Given the description of an element on the screen output the (x, y) to click on. 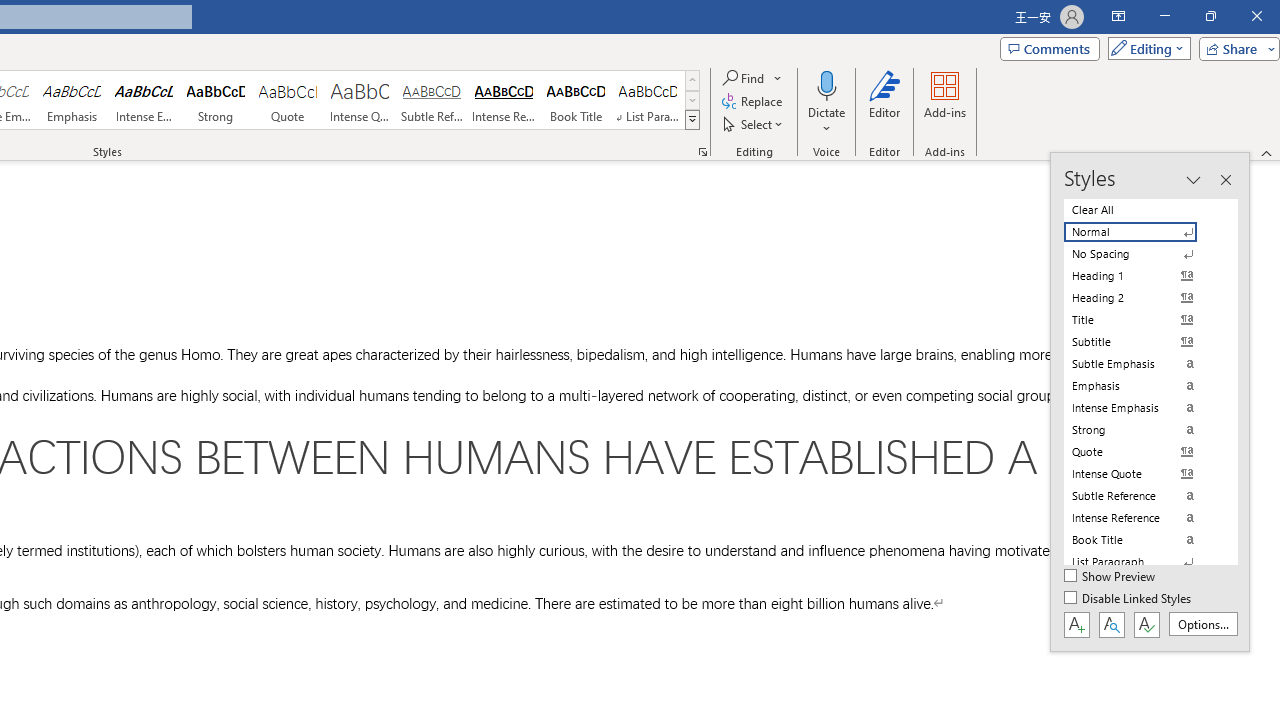
Editor (885, 102)
Emphasis (71, 100)
Disable Linked Styles (1129, 599)
Title (1142, 319)
Intense Emphasis (143, 100)
No Spacing (1142, 253)
Heading 2 (1142, 297)
Strong (216, 100)
Subtitle (1142, 341)
Editing (1144, 47)
